Given the description of an element on the screen output the (x, y) to click on. 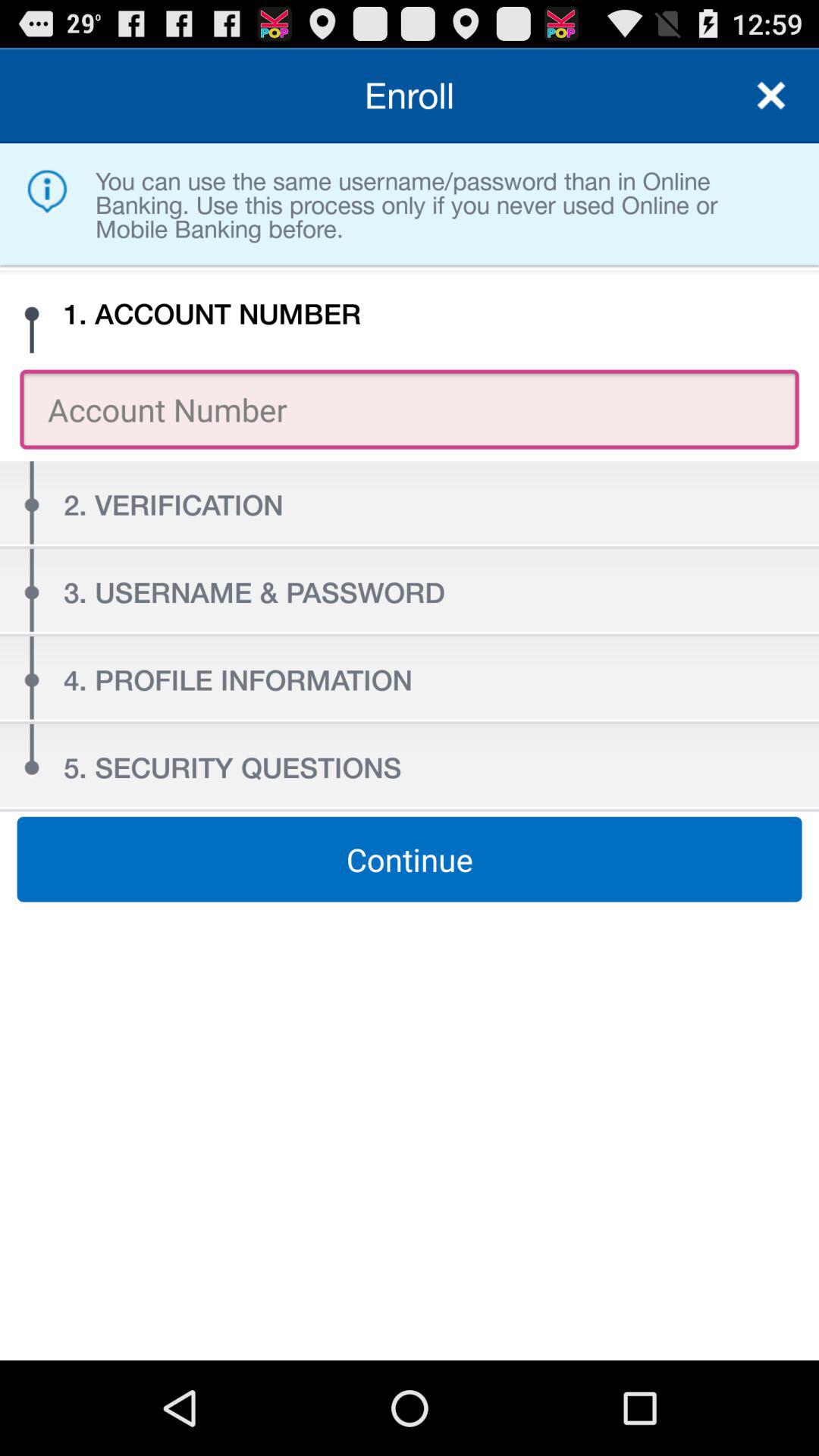
choose the icon at the top right corner (771, 95)
